Given the description of an element on the screen output the (x, y) to click on. 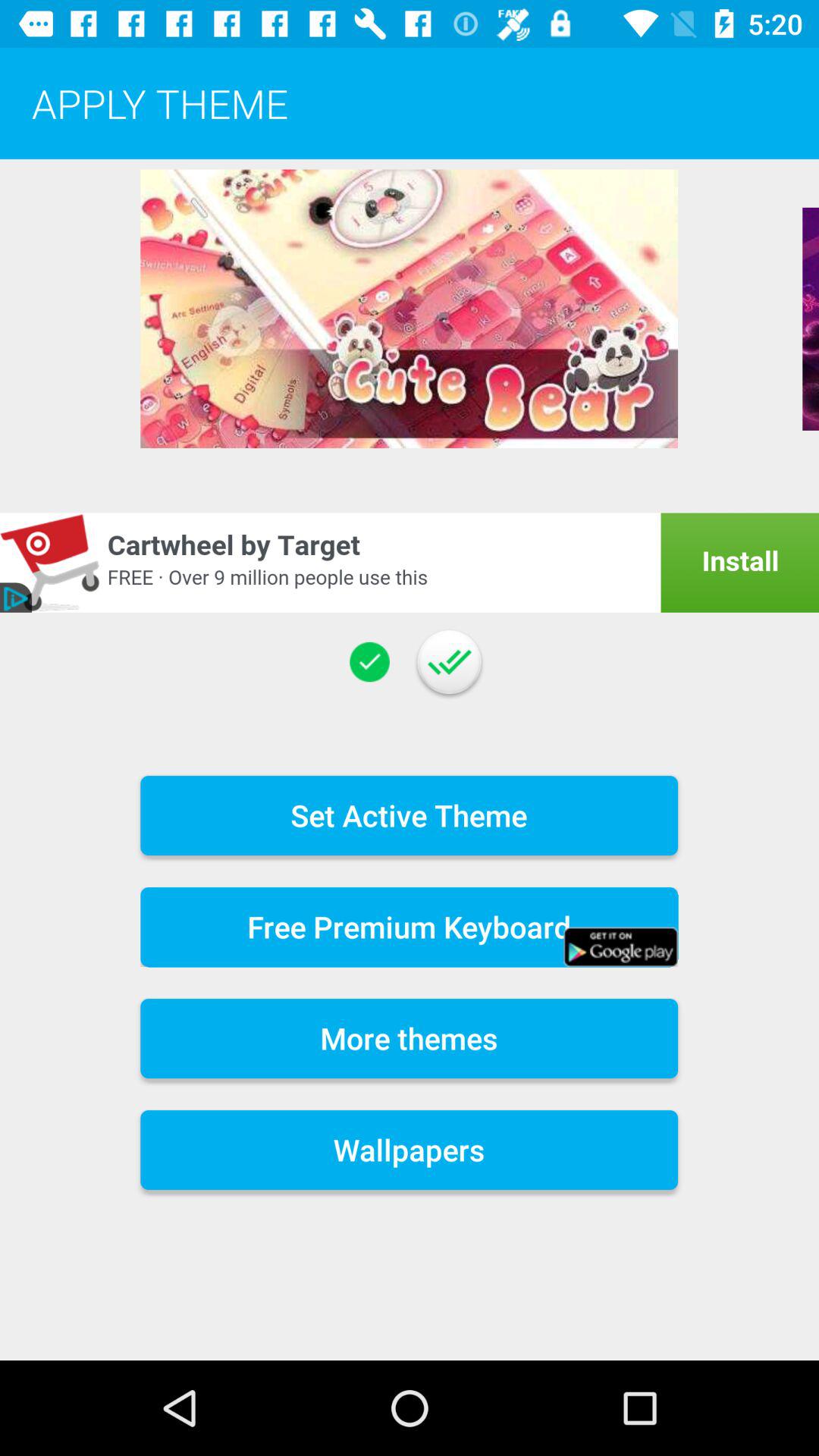
tap item above the set active theme icon (369, 661)
